Given the description of an element on the screen output the (x, y) to click on. 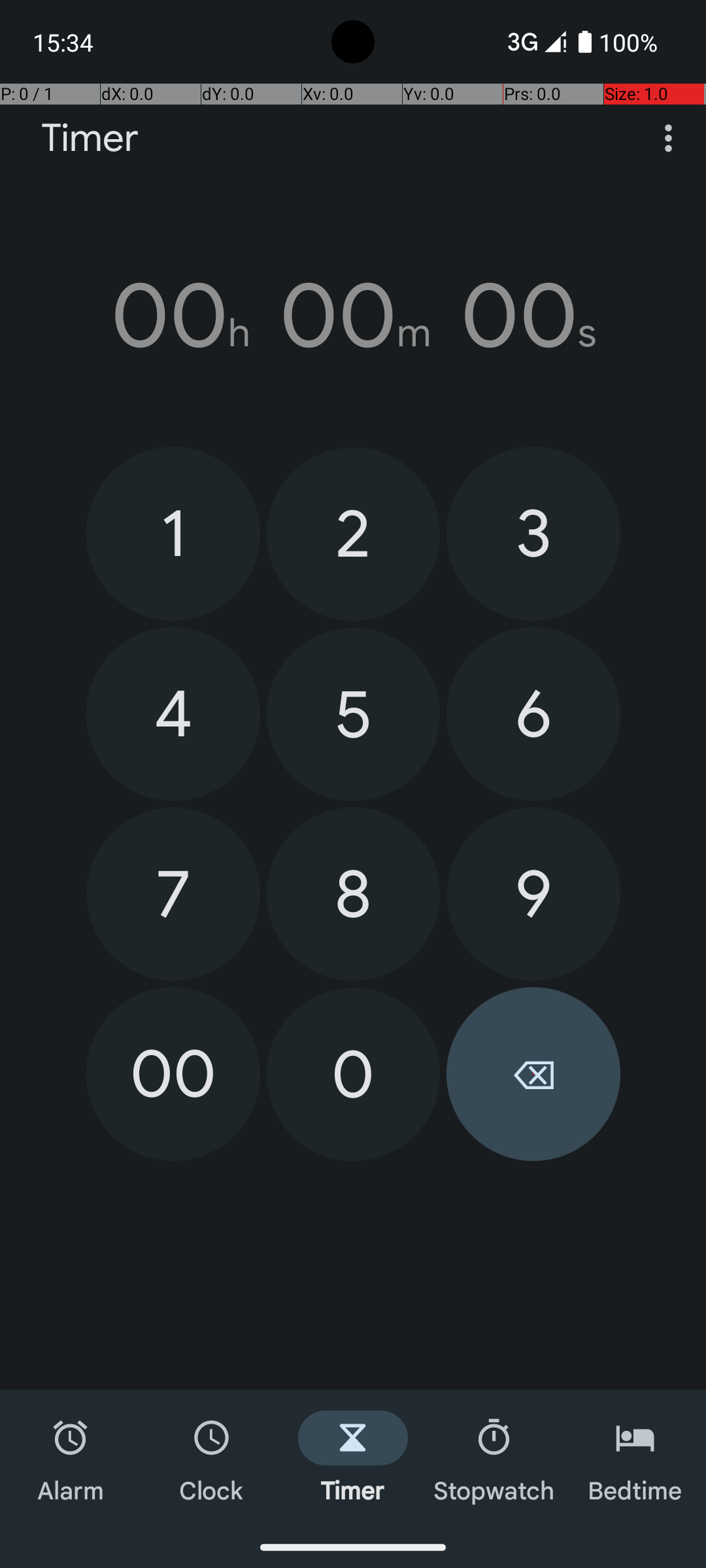
00h 00m 00s Element type: android.widget.TextView (353, 315)
